Given the description of an element on the screen output the (x, y) to click on. 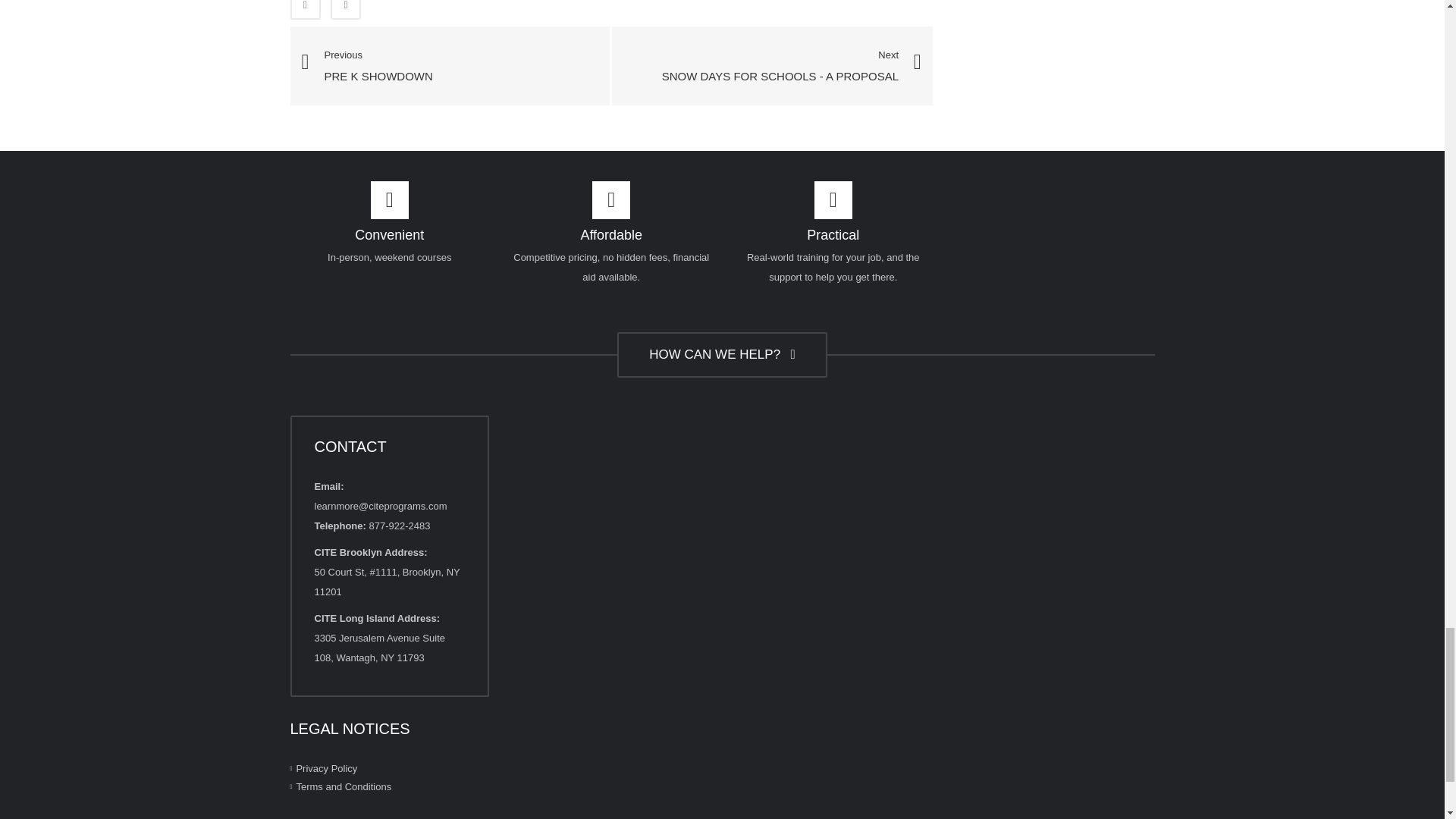
Share on Facebook (304, 9)
Share on Twitter (345, 9)
Snow Days for Schools - A Proposal (780, 67)
Pre K Showdown (449, 64)
